Given the description of an element on the screen output the (x, y) to click on. 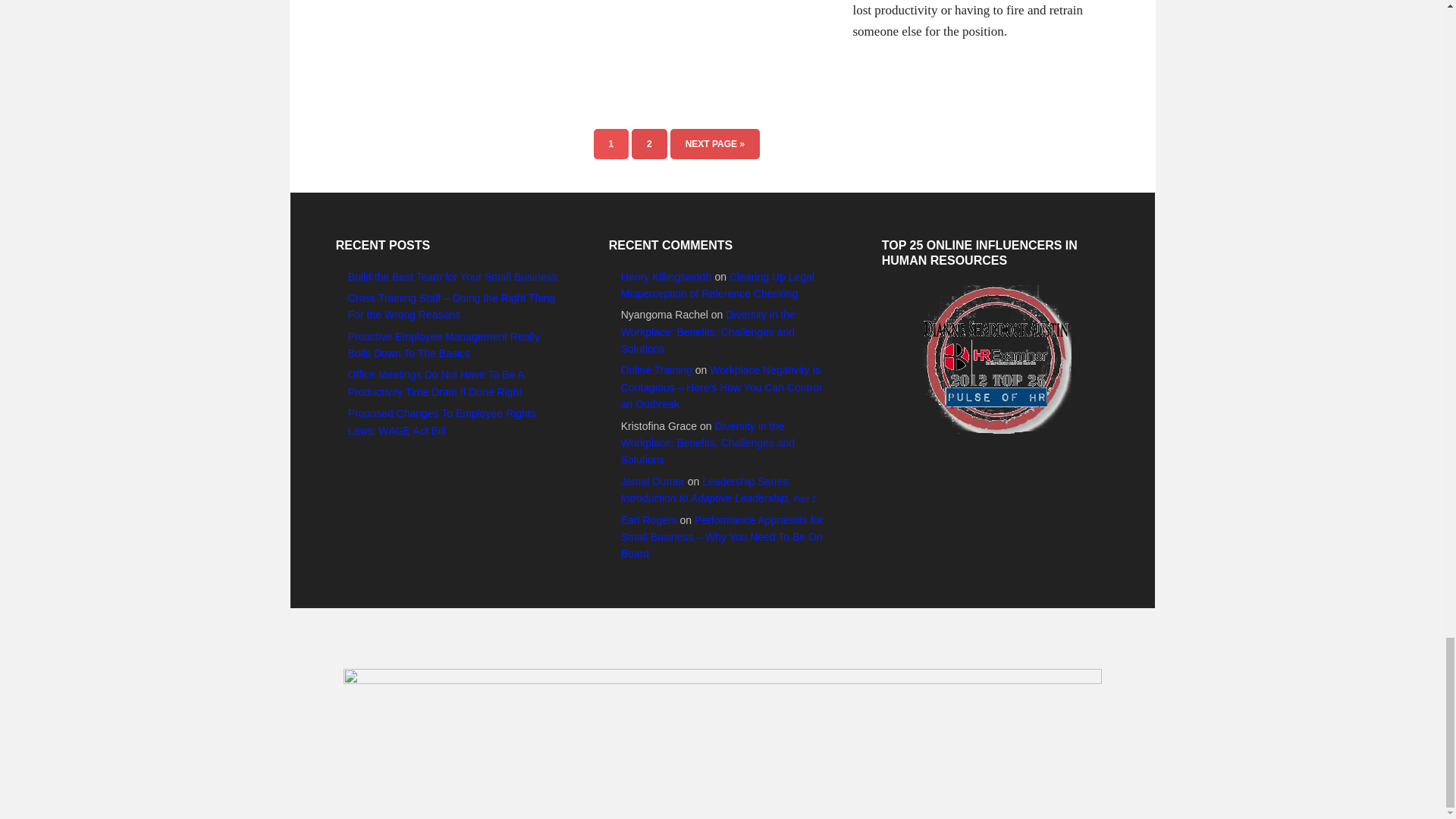
HR Examiner Top 25 (994, 358)
